Given the description of an element on the screen output the (x, y) to click on. 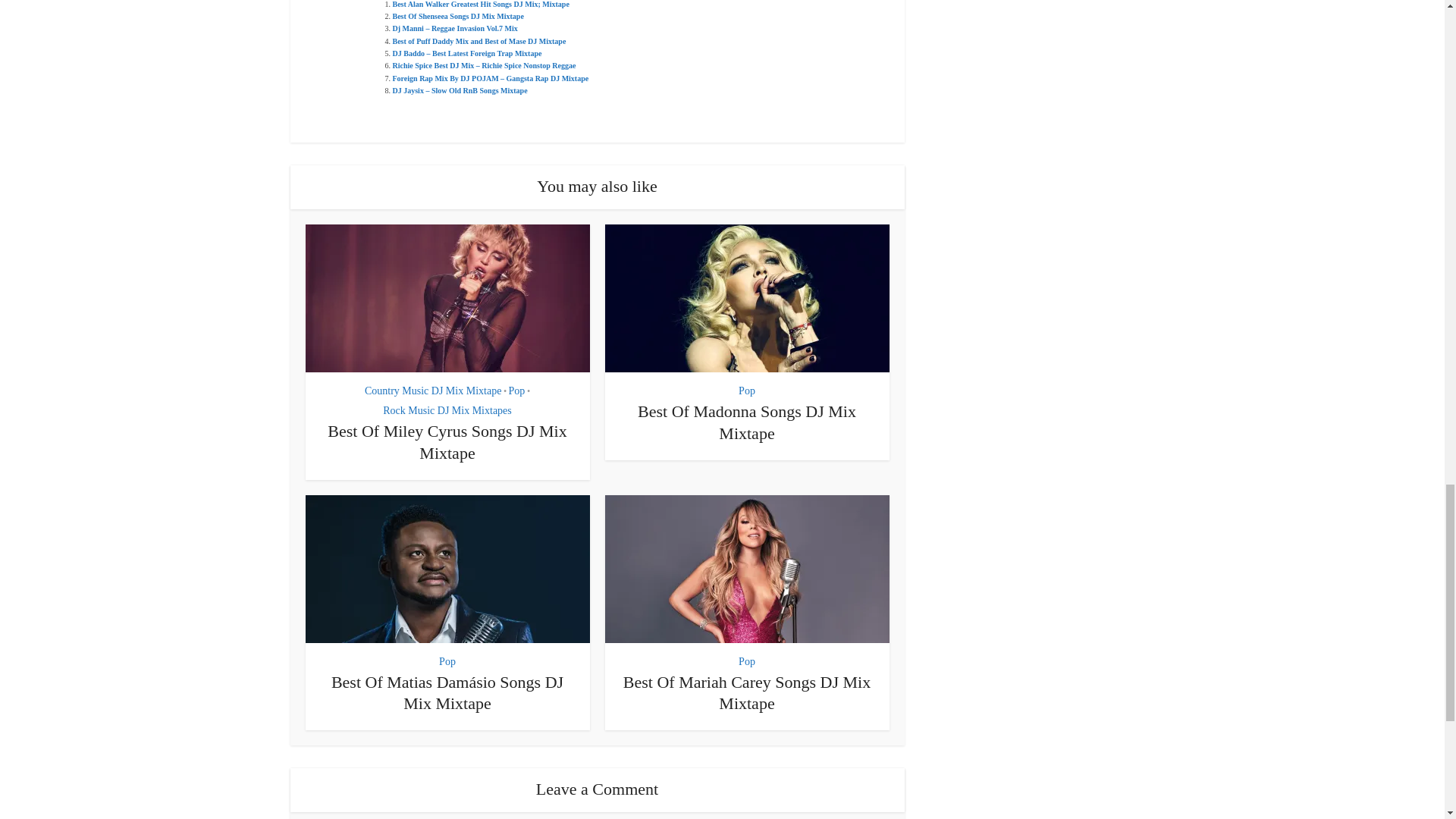
Best Of Shenseea Songs DJ Mix Mixtape (458, 16)
Best Alan Walker Greatest Hit Songs DJ Mix; Mixtape (481, 4)
